Given the description of an element on the screen output the (x, y) to click on. 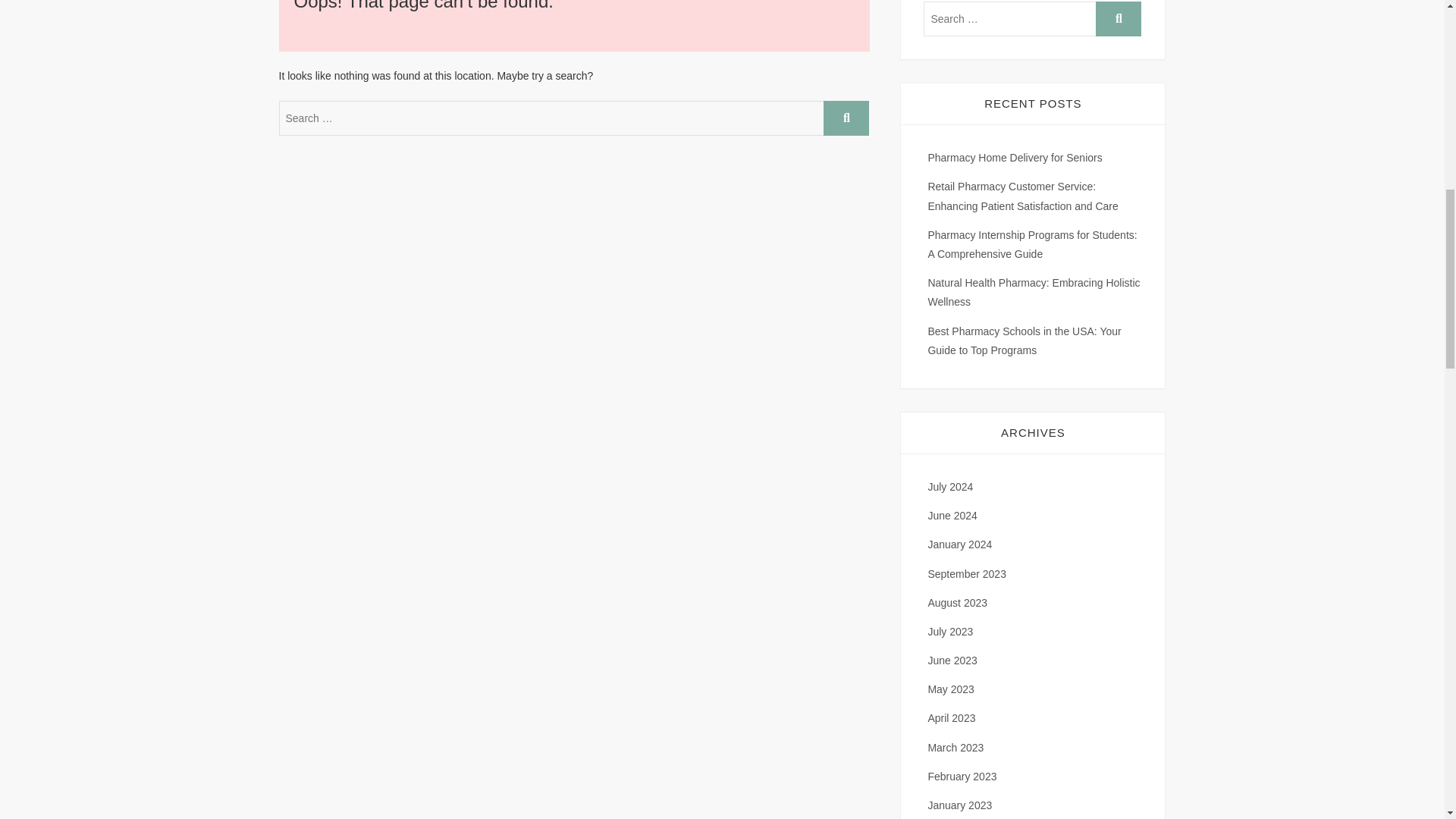
Natural Health Pharmacy: Embracing Holistic Wellness (1033, 291)
Pharmacy Home Delivery for Seniors (1014, 157)
Best Pharmacy Schools in the USA: Your Guide to Top Programs (1024, 340)
